Given the description of an element on the screen output the (x, y) to click on. 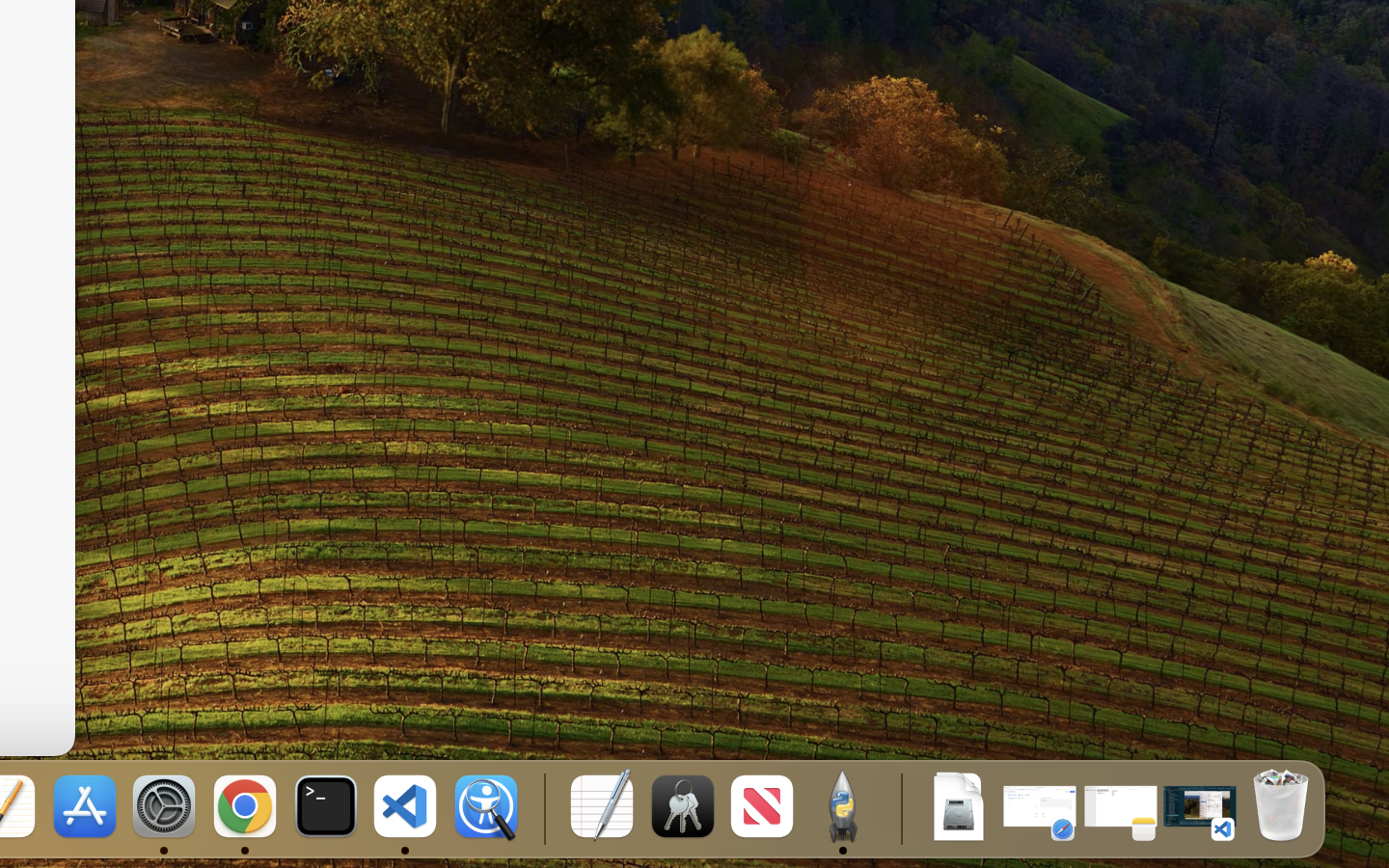
0.4285714328289032 Element type: AXDockItem (541, 807)
